Given the description of an element on the screen output the (x, y) to click on. 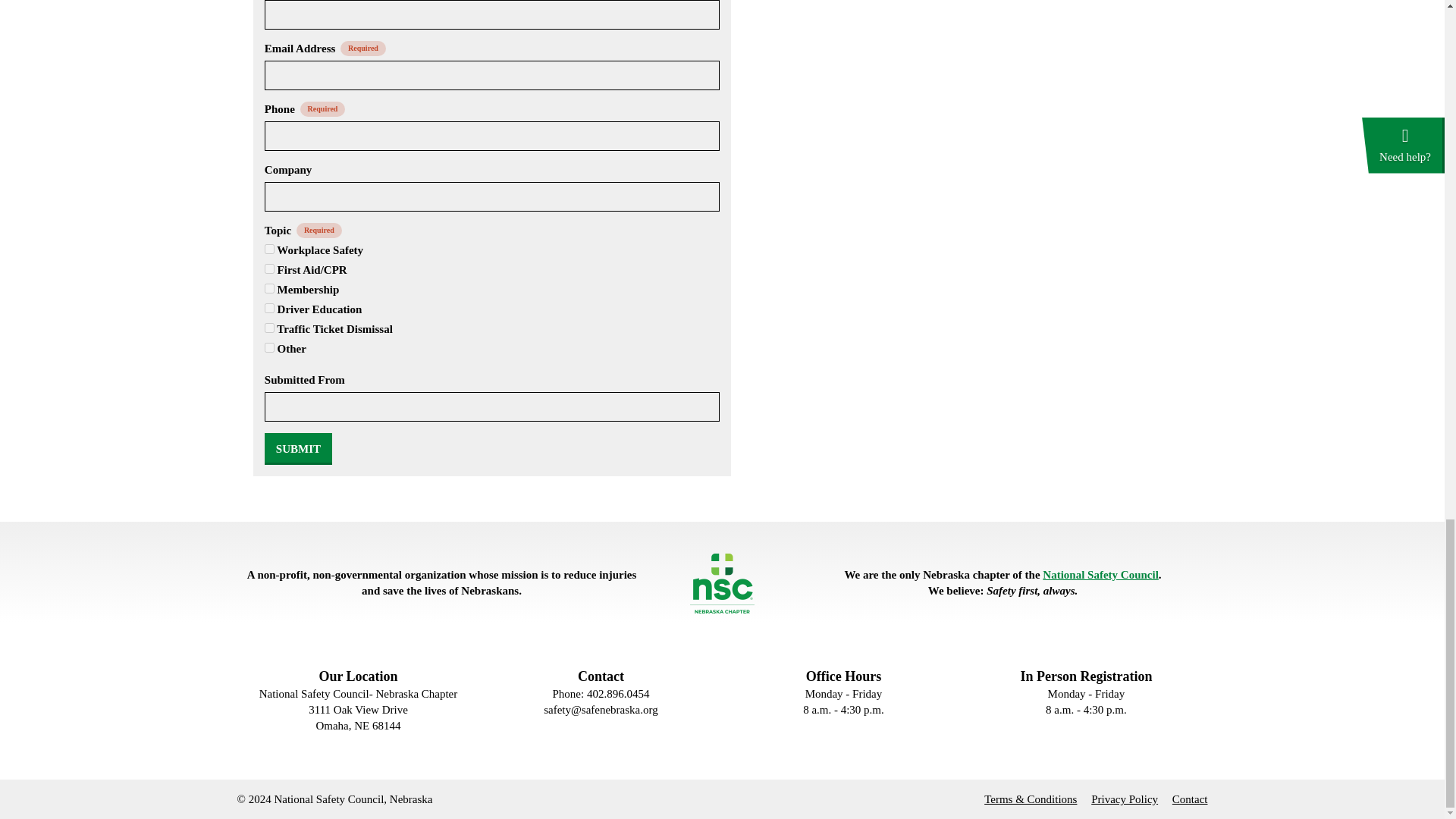
353 (269, 248)
354 (269, 268)
356 (269, 307)
358 (269, 347)
355 (269, 288)
357 (269, 327)
